Given the description of an element on the screen output the (x, y) to click on. 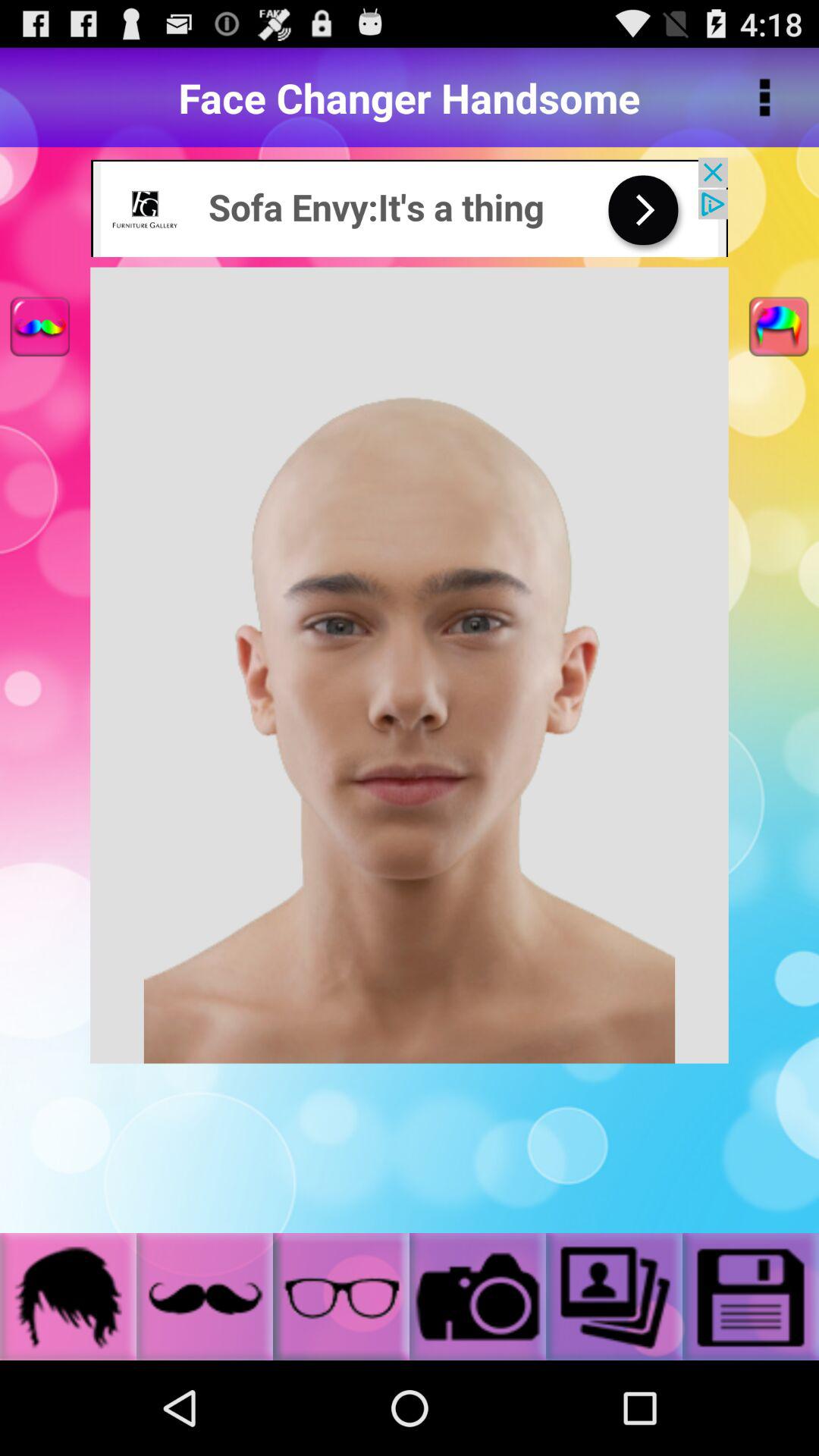
select the option (614, 1296)
